Given the description of an element on the screen output the (x, y) to click on. 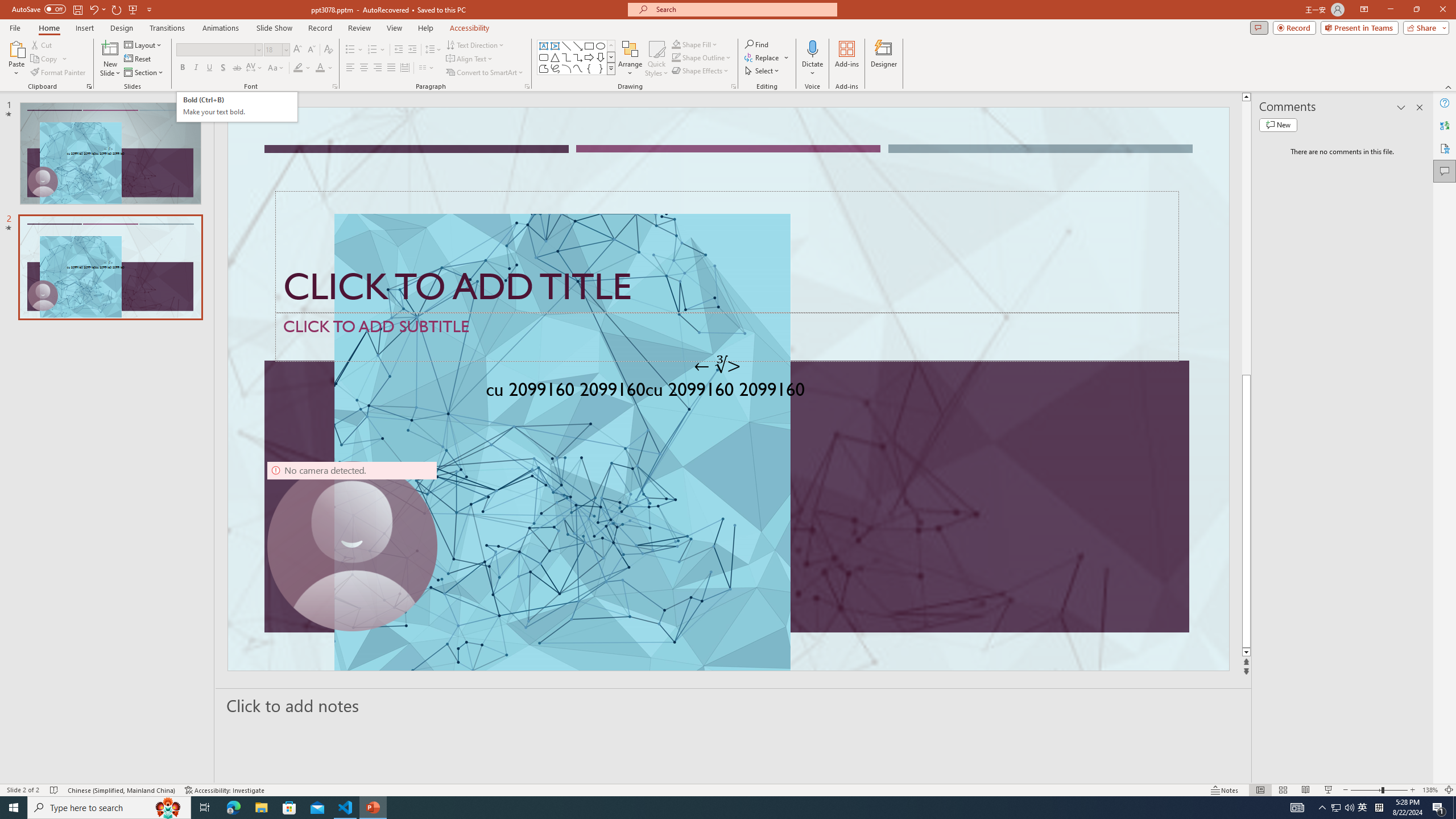
Animations (220, 28)
Close (1442, 9)
Open (285, 49)
Shape Fill (694, 44)
Insert (83, 28)
Translator (1444, 125)
Replace... (762, 56)
An abstract genetic concept (728, 388)
Arrow: Right (589, 57)
Cut (42, 44)
Notes  (1225, 790)
Connector: Elbow Arrow (577, 57)
Home (48, 28)
